Given the description of an element on the screen output the (x, y) to click on. 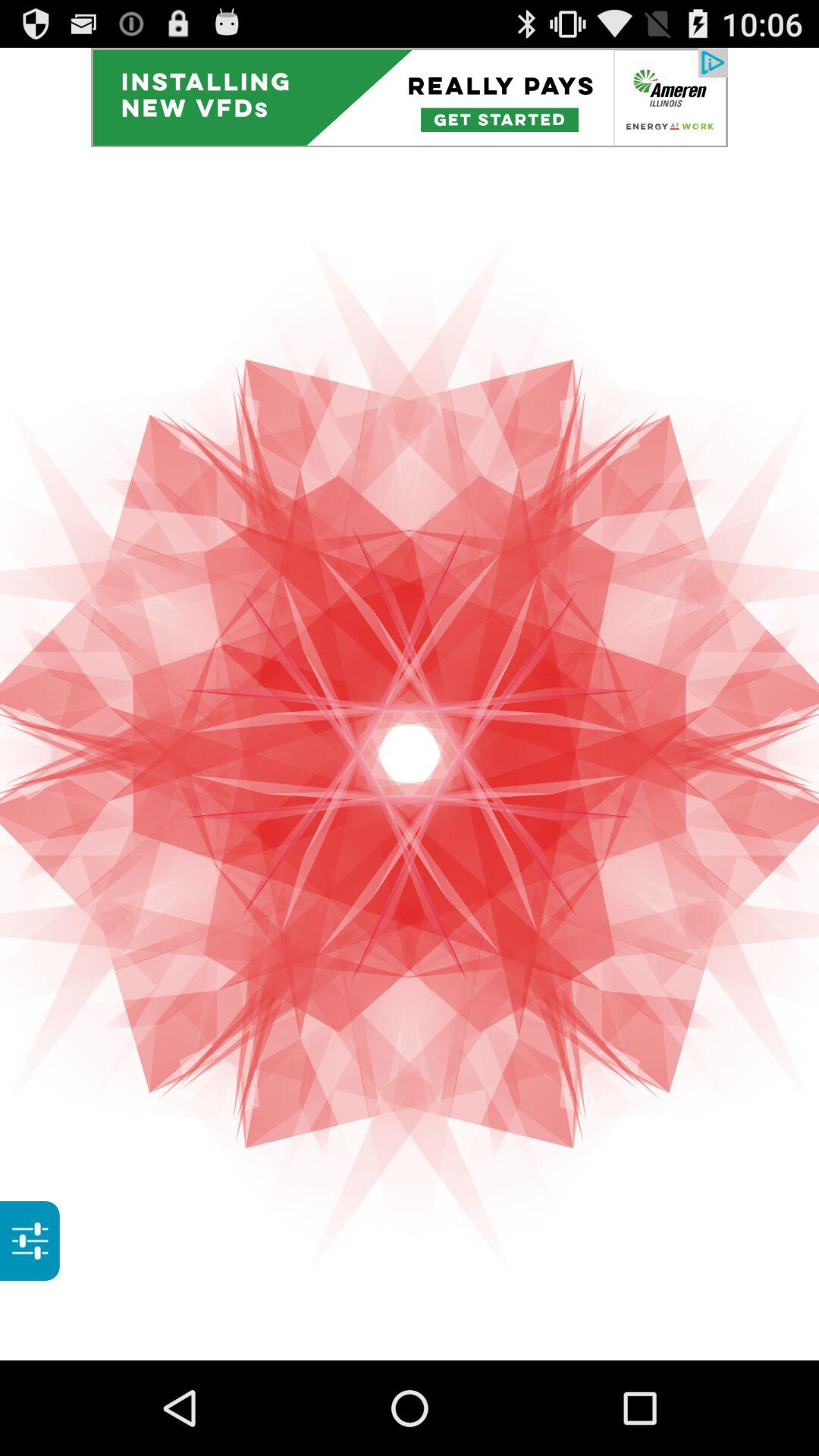
advertisement (409, 97)
